Given the description of an element on the screen output the (x, y) to click on. 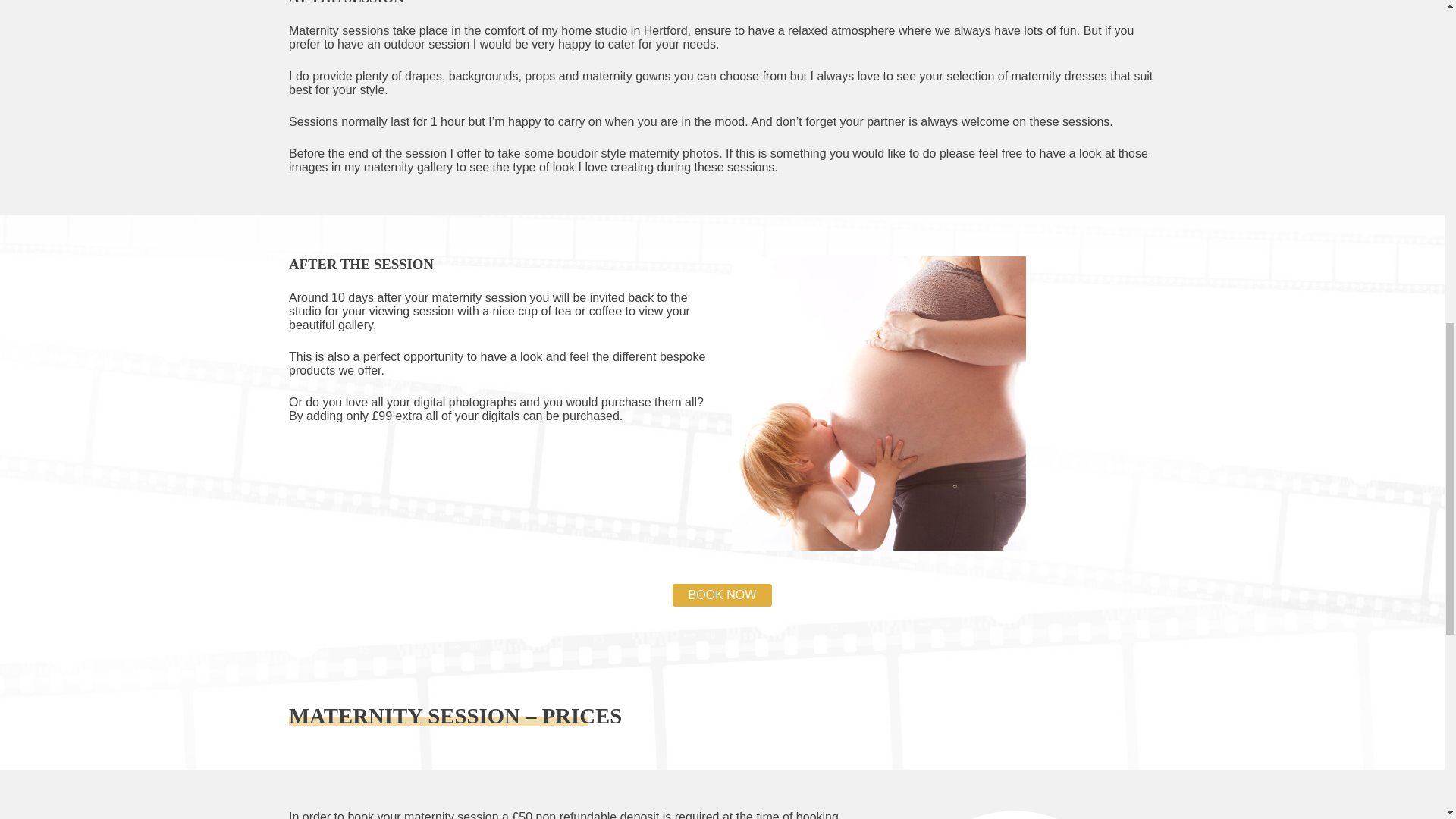
BOOK NOW (722, 594)
